Given the description of an element on the screen output the (x, y) to click on. 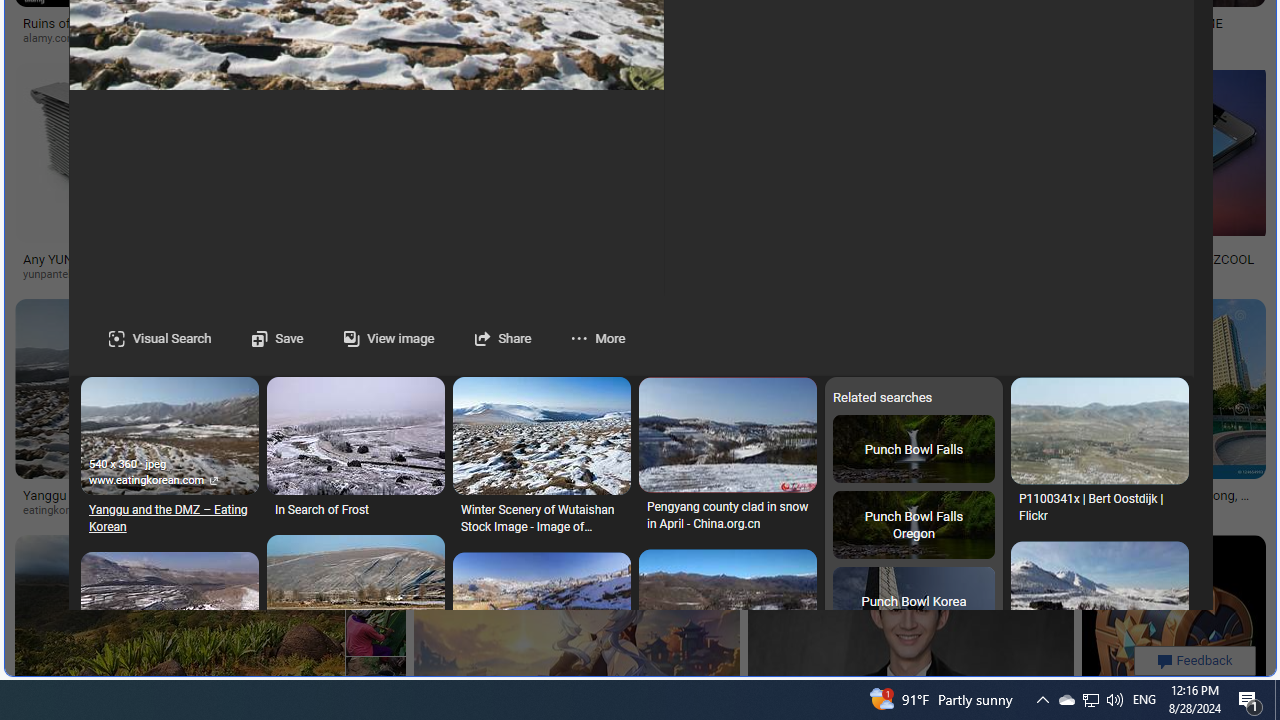
GUGE HOME, Online Shop | Shopee Philippines (900, 30)
Punch Bowl Falls Oregon (913, 525)
Save (276, 338)
See related image detail. P1100341x | Bert Oostdijk | Flickr (1099, 431)
P1100341x | Bert Oostdijk | Flickr (1099, 508)
Save (257, 338)
eatingkorean.com (74, 509)
